Given the description of an element on the screen output the (x, y) to click on. 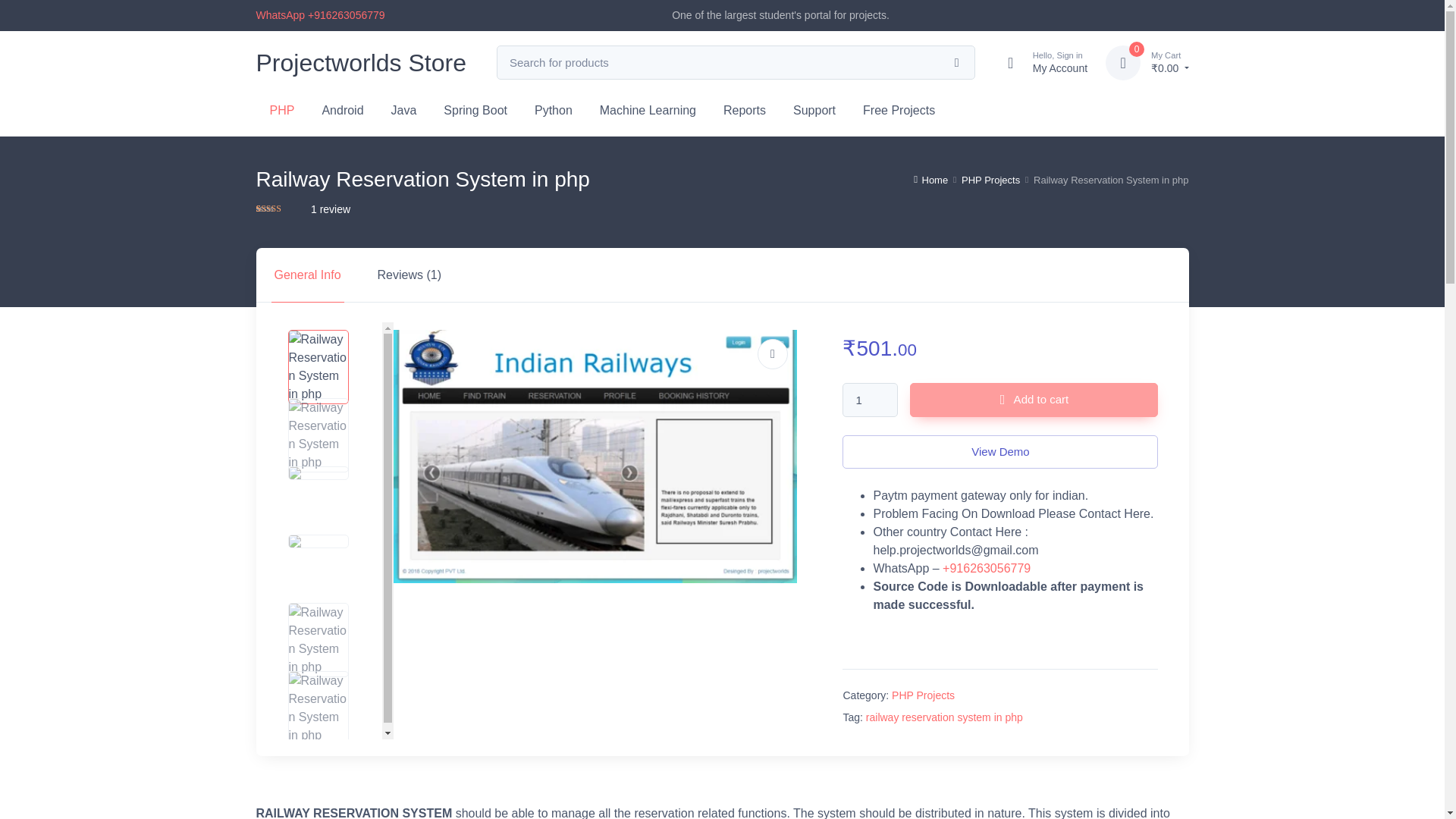
Search (22, 10)
Java (403, 108)
Java (1039, 62)
Android (403, 108)
Support (342, 108)
PHP (813, 108)
1 (282, 108)
Machine Learning (870, 399)
Python (648, 108)
